Given the description of an element on the screen output the (x, y) to click on. 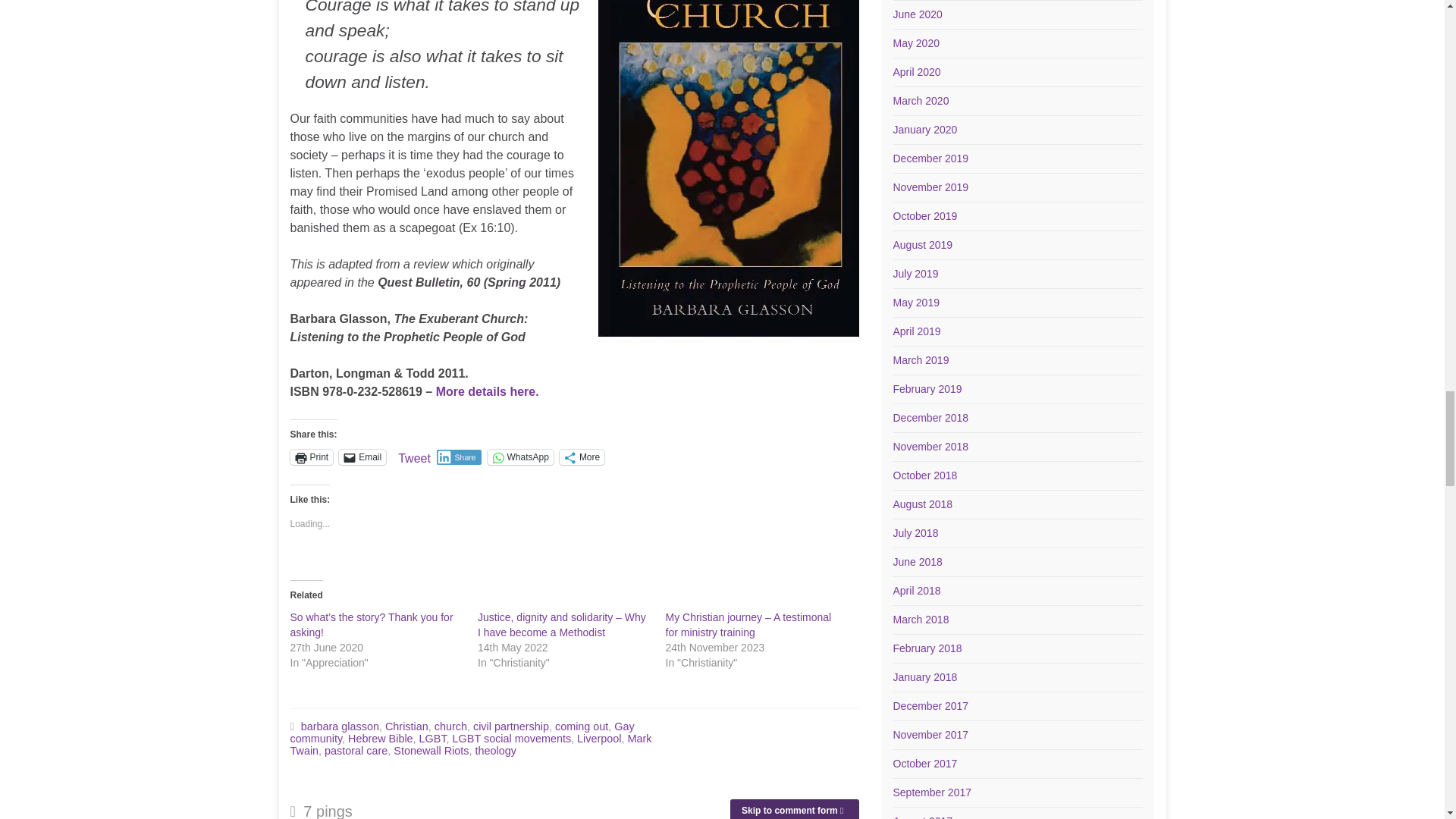
WhatsApp (520, 457)
Share (458, 457)
Print (311, 457)
More (581, 457)
More details here. (486, 391)
Tweet (413, 456)
Email (362, 457)
